Given the description of an element on the screen output the (x, y) to click on. 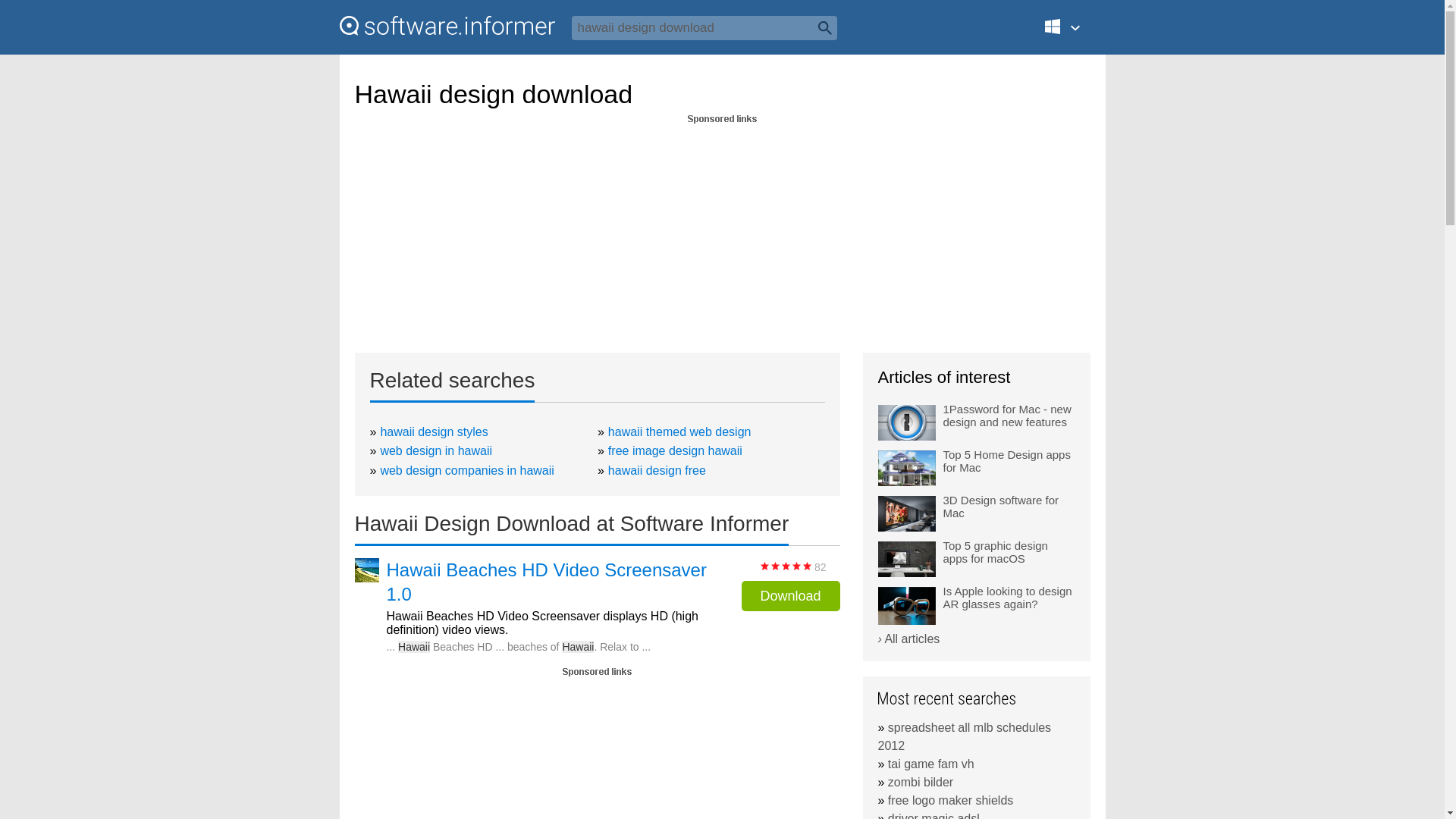
Windows (1070, 33)
free image design hawaii (675, 450)
web design companies in hawaii (466, 470)
Hawaii Beaches HD Video Screensaver 1.0 (553, 581)
Download (790, 595)
hawaii design styles (433, 431)
hawaii themed web design (679, 431)
Software downloads and reviews (446, 25)
hawaii design free (657, 470)
82 votes (785, 565)
web design in hawaii (436, 450)
Hawaii Beaches HD Video Screensaver 1.0 (553, 581)
hawaii design download (704, 27)
